Given the description of an element on the screen output the (x, y) to click on. 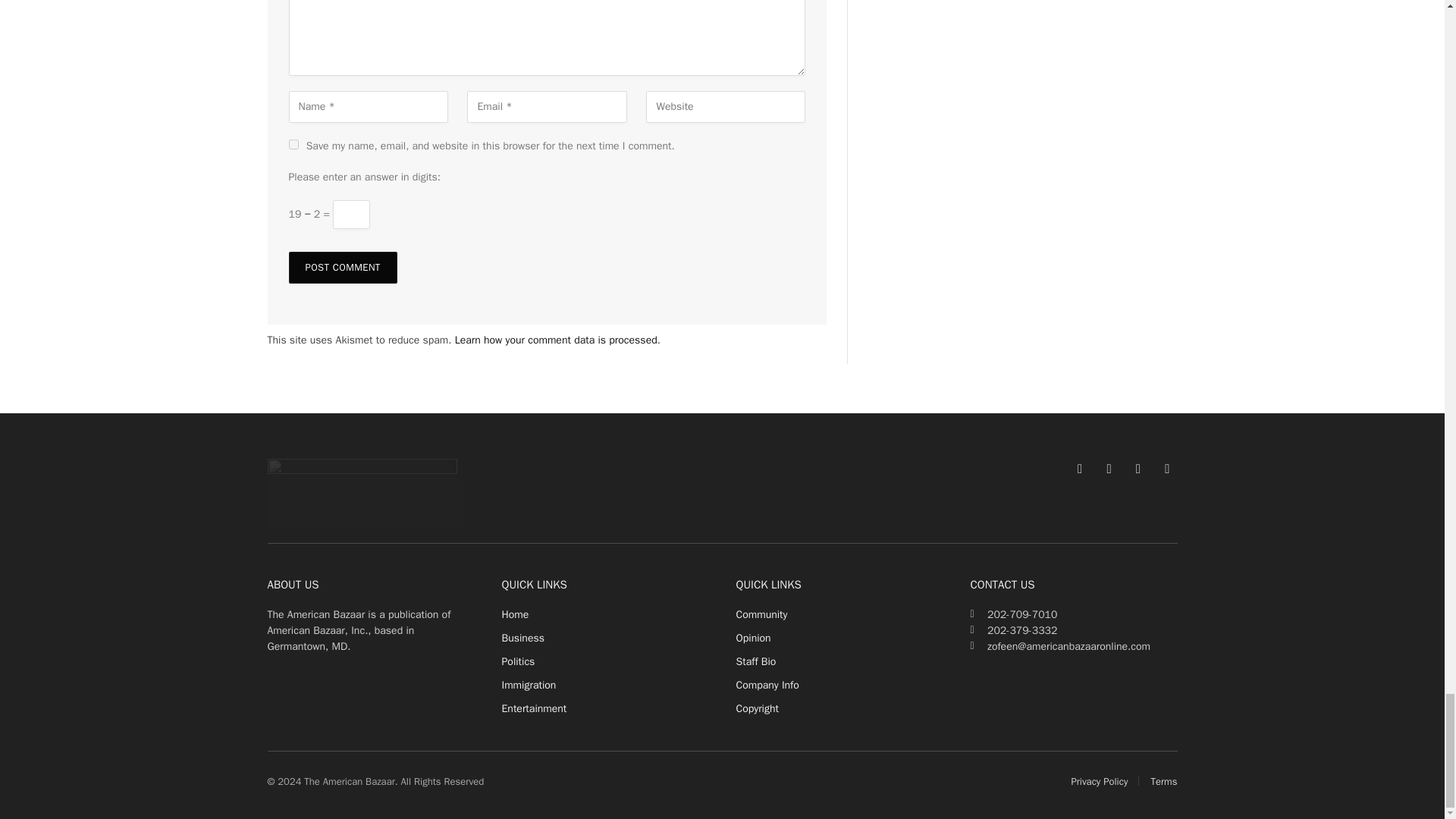
yes (293, 144)
Post Comment (342, 267)
